Given the description of an element on the screen output the (x, y) to click on. 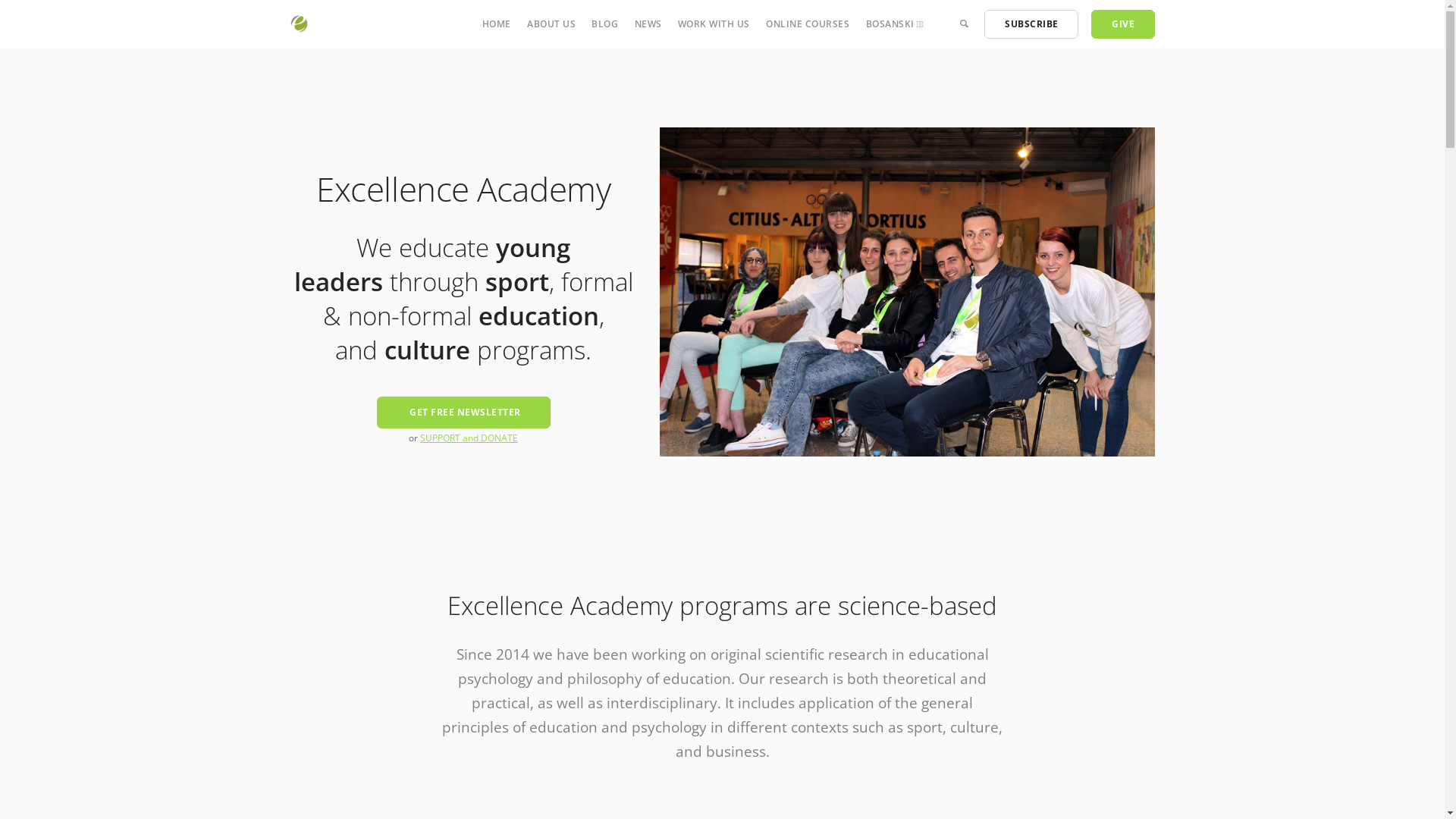
 GET FREE NEWSLETTER Element type: text (463, 412)
SUPPORT and DONATE Element type: text (468, 437)
GIVE Element type: text (1122, 23)
ONLINE COURSES Element type: text (807, 23)
HOME Element type: text (496, 23)
NEWS Element type: text (648, 23)
WORK WITH US Element type: text (713, 23)
SUBSCRIBE Element type: text (1031, 23)
ABOUT US Element type: text (551, 23)
BLOG Element type: text (604, 23)
